Given the description of an element on the screen output the (x, y) to click on. 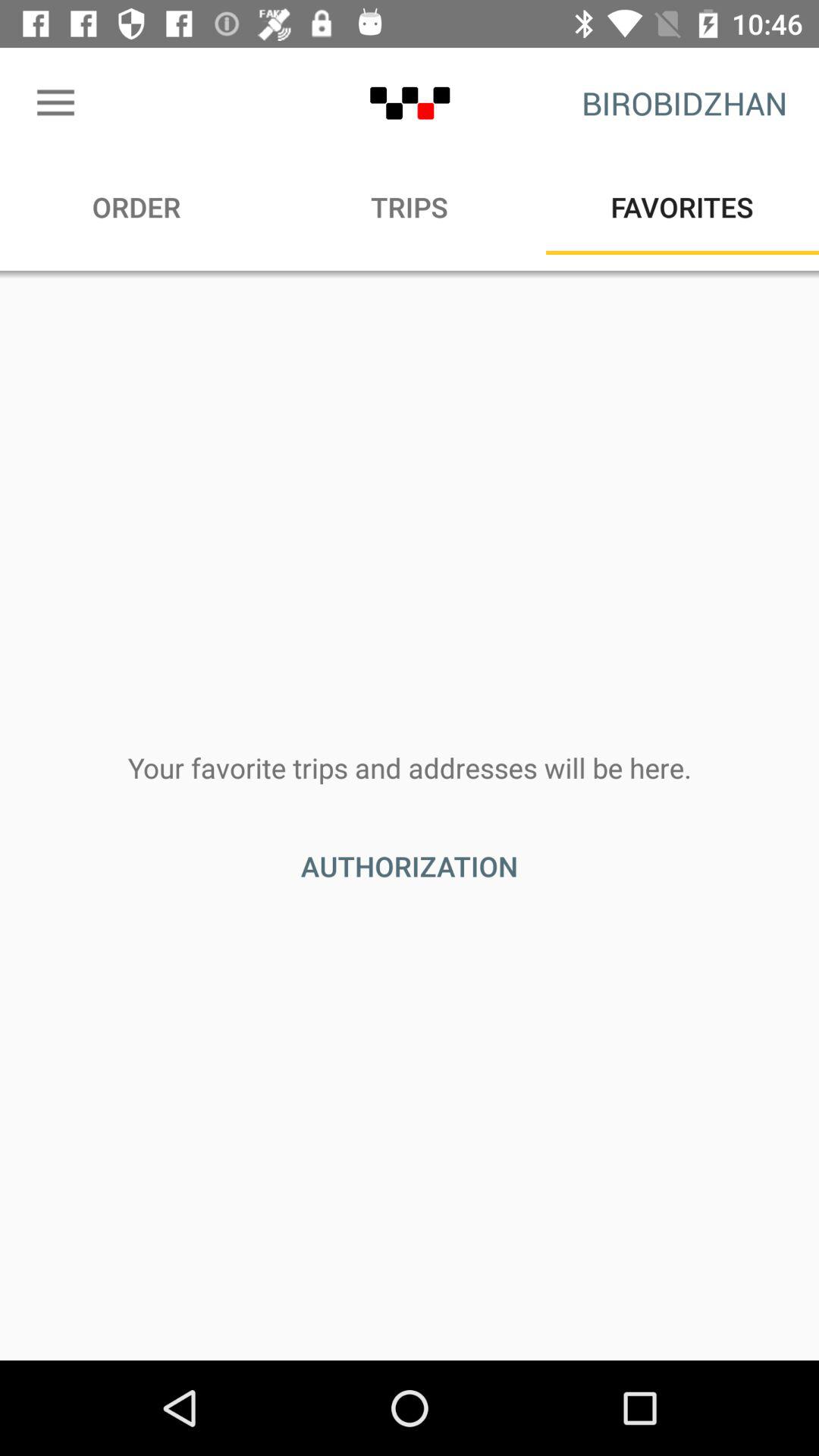
press birobidzhan item (684, 102)
